Given the description of an element on the screen output the (x, y) to click on. 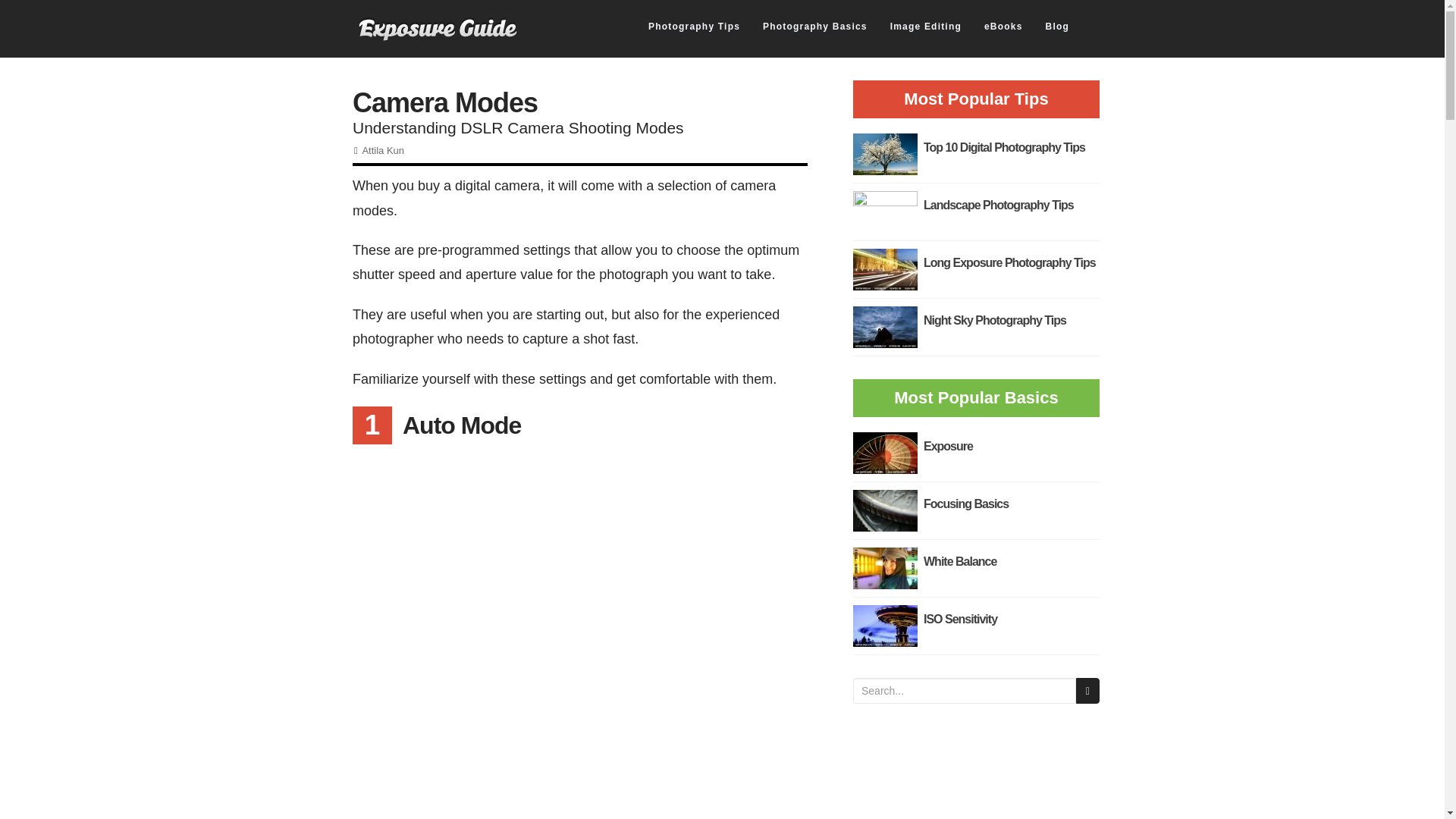
Night Sky Photography Tips (976, 320)
Attila Kun (382, 150)
White Balance (976, 561)
eBooks (1003, 26)
Photography Basics (814, 26)
Image Editing (924, 26)
Landscape Photography Tips (976, 205)
Go (1087, 690)
Photography Tips (693, 26)
Exposure (976, 446)
Focusing Basics (976, 504)
Top 10 Digital Photography Tips (976, 147)
ISO Sensitivity (976, 619)
Image Editing (924, 26)
Photography Tips (693, 26)
